Given the description of an element on the screen output the (x, y) to click on. 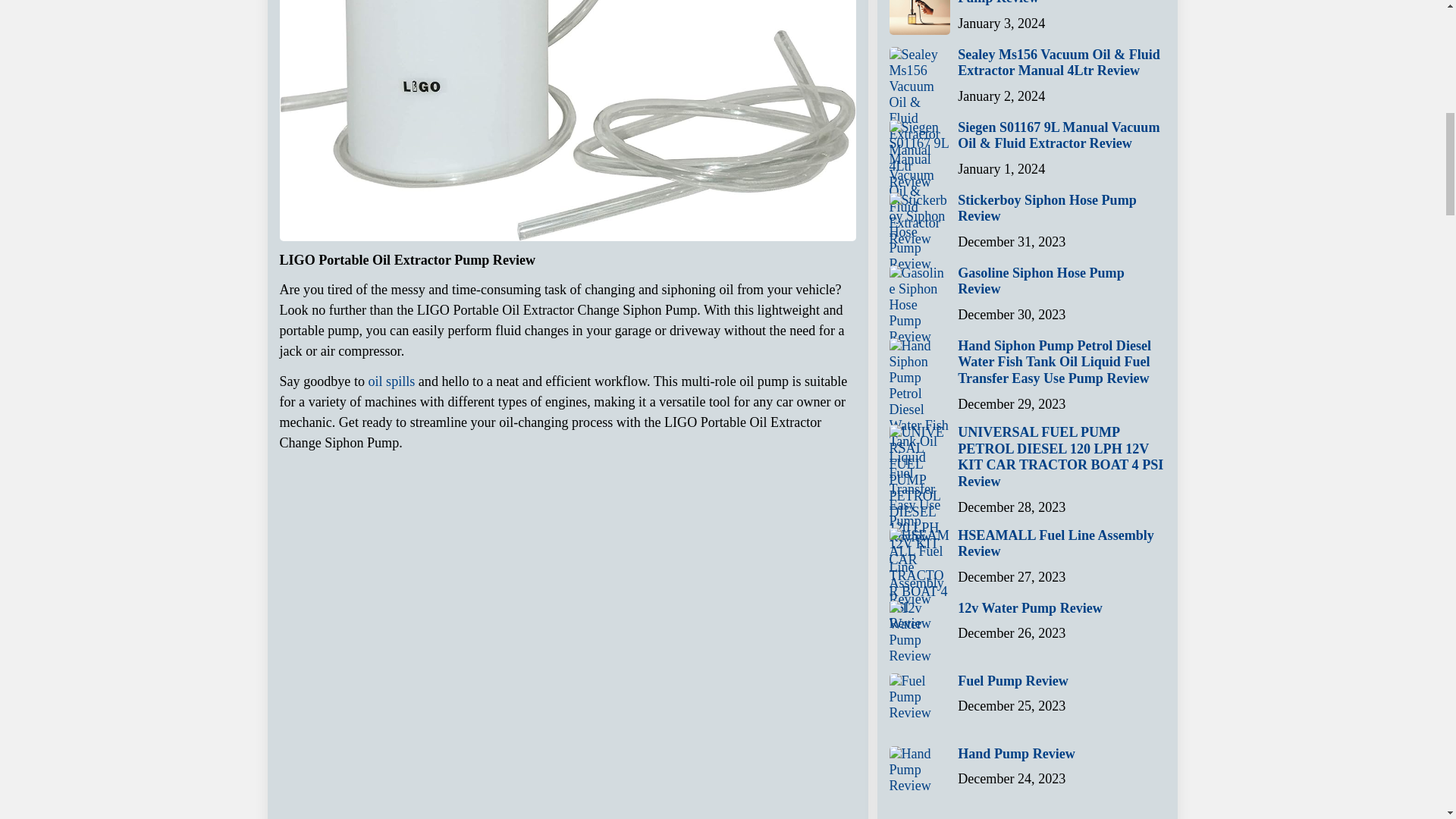
oil spills (391, 380)
